Given the description of an element on the screen output the (x, y) to click on. 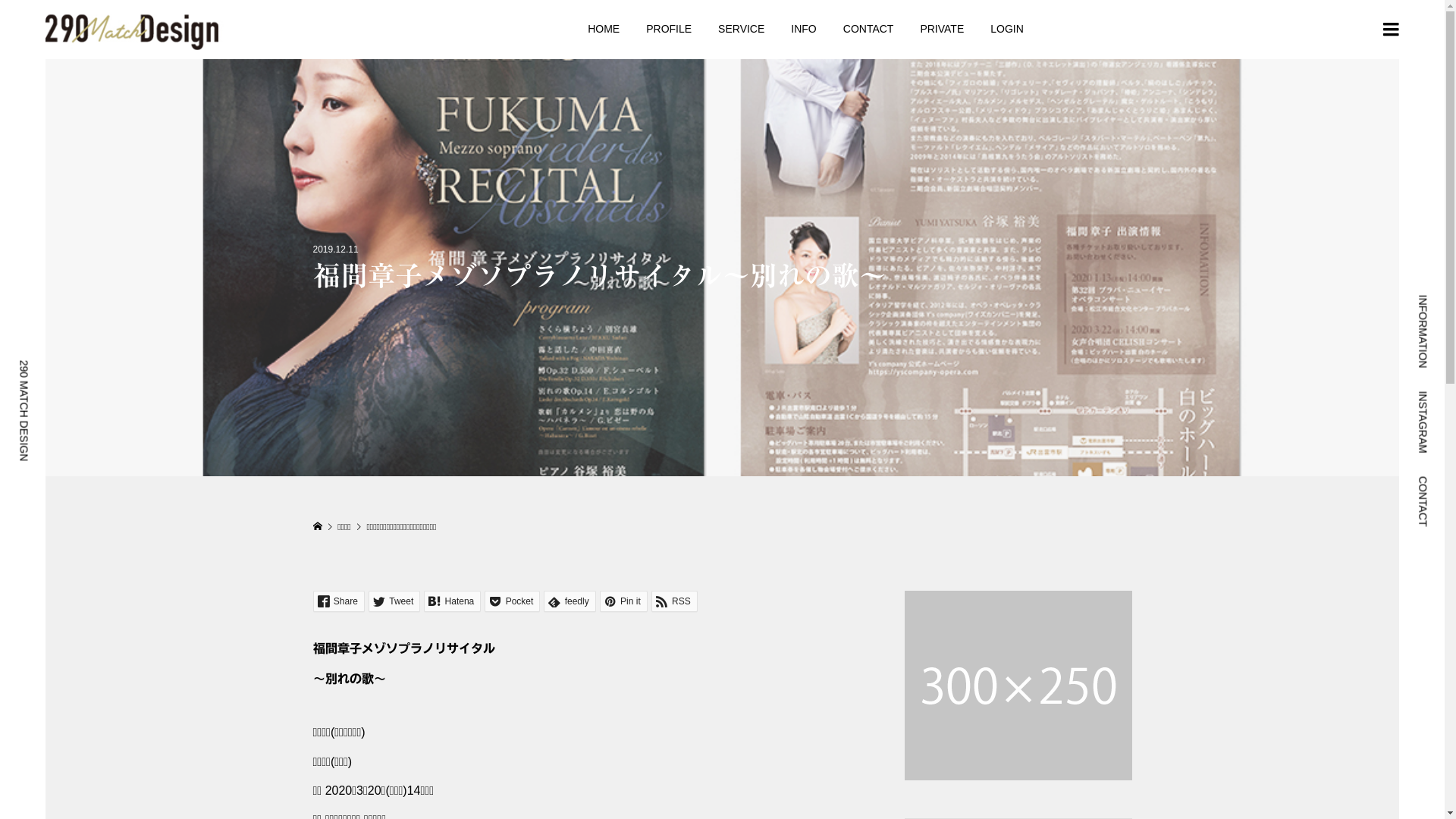
Pocket Element type: text (511, 600)
Tweet Element type: text (394, 600)
Hatena Element type: text (451, 600)
HOME Element type: text (603, 29)
INFO Element type: text (803, 29)
PROFILE Element type: text (669, 29)
Share Element type: text (338, 600)
feedly Element type: text (569, 600)
RSS Element type: text (674, 600)
CONTACT Element type: text (867, 29)
PRIVATE Element type: text (941, 29)
LOGIN Element type: text (1007, 29)
Pin it Element type: text (623, 600)
SERVICE Element type: text (741, 29)
